Given the description of an element on the screen output the (x, y) to click on. 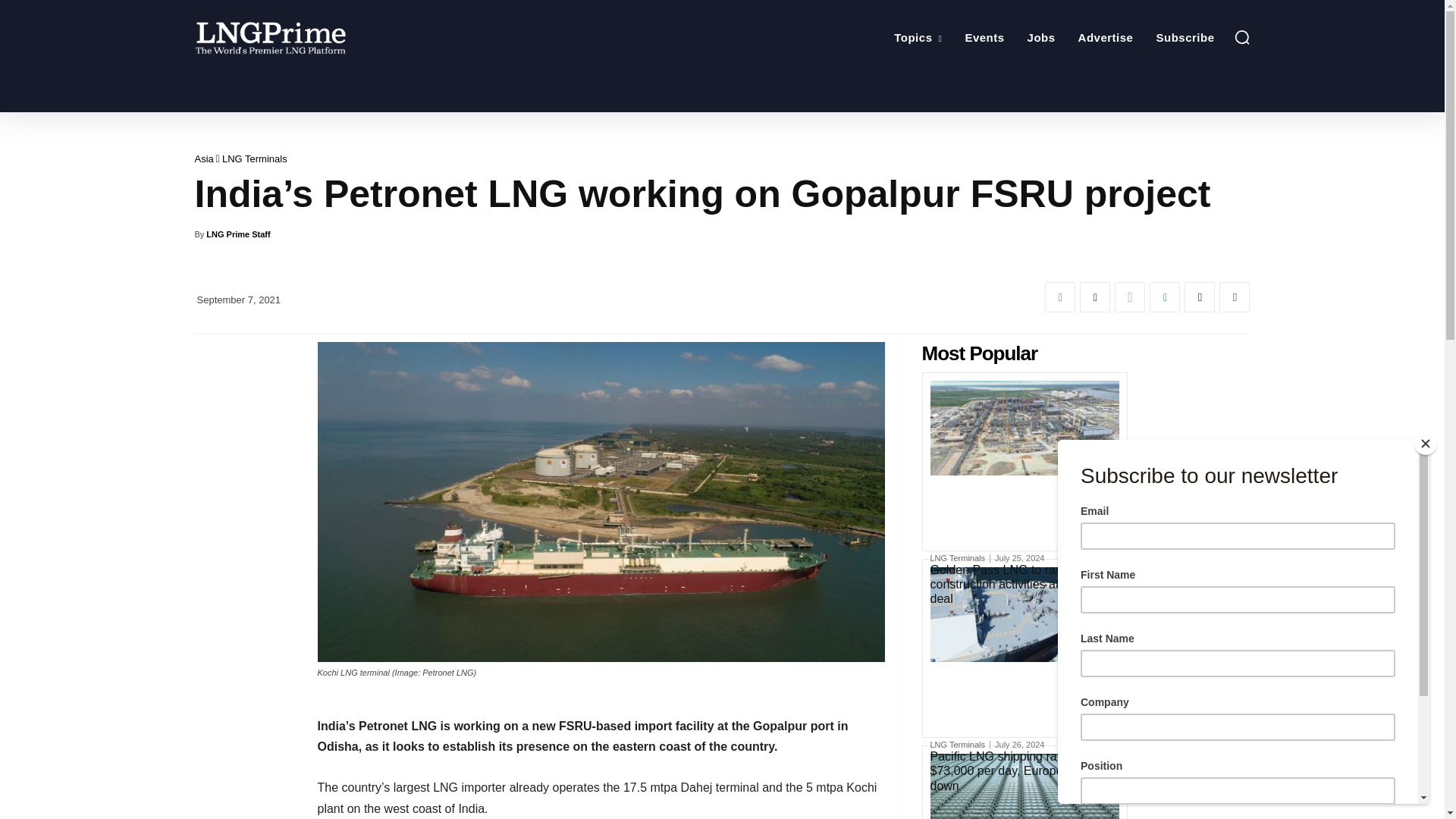
Print (1234, 296)
Linkedin (1164, 296)
Twitter (1094, 296)
Facebook (1060, 296)
Email (1199, 296)
WhatsApp (1129, 296)
